Given the description of an element on the screen output the (x, y) to click on. 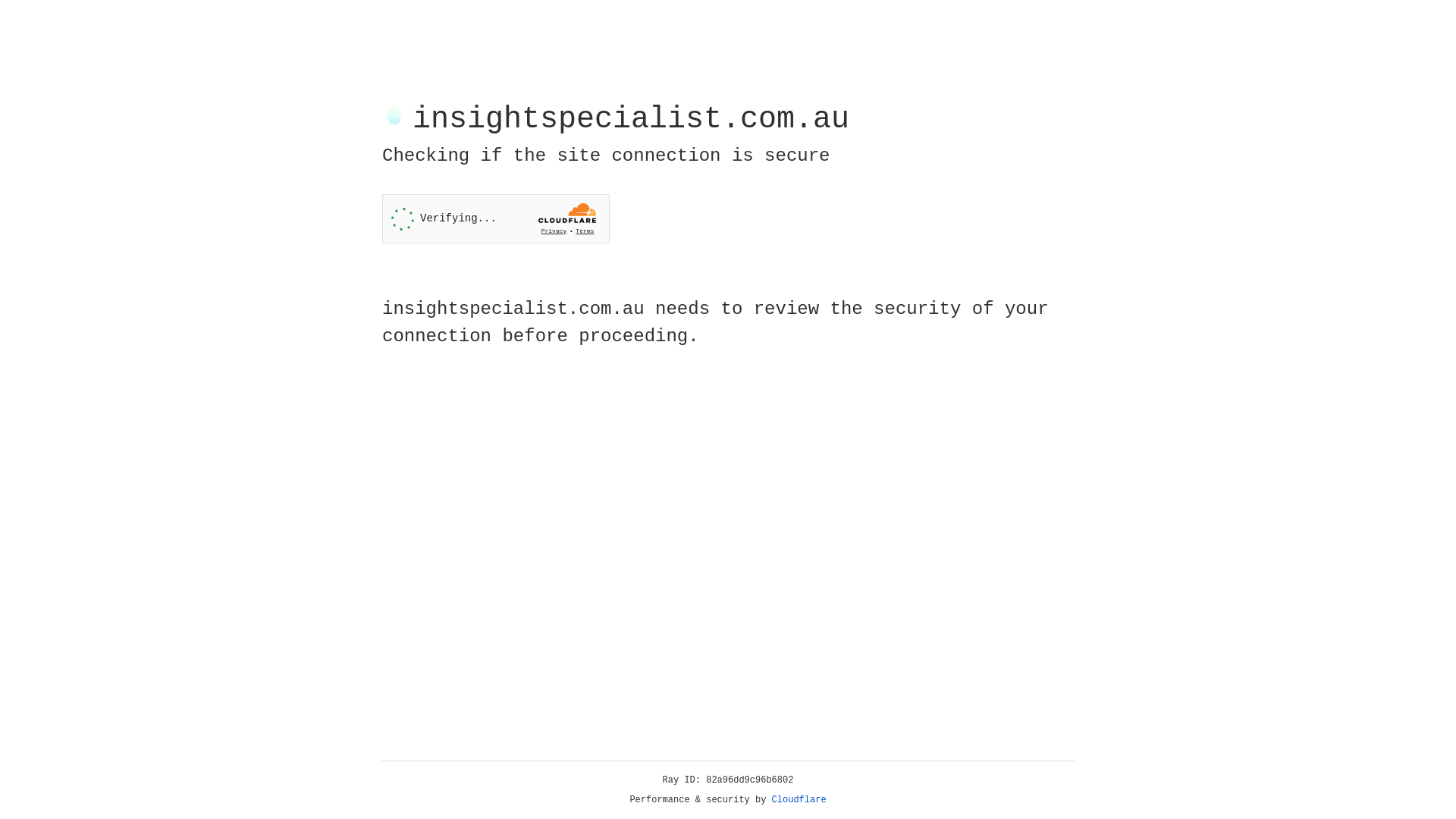
Widget containing a Cloudflare security challenge Element type: hover (495, 218)
Cloudflare Element type: text (798, 799)
